Given the description of an element on the screen output the (x, y) to click on. 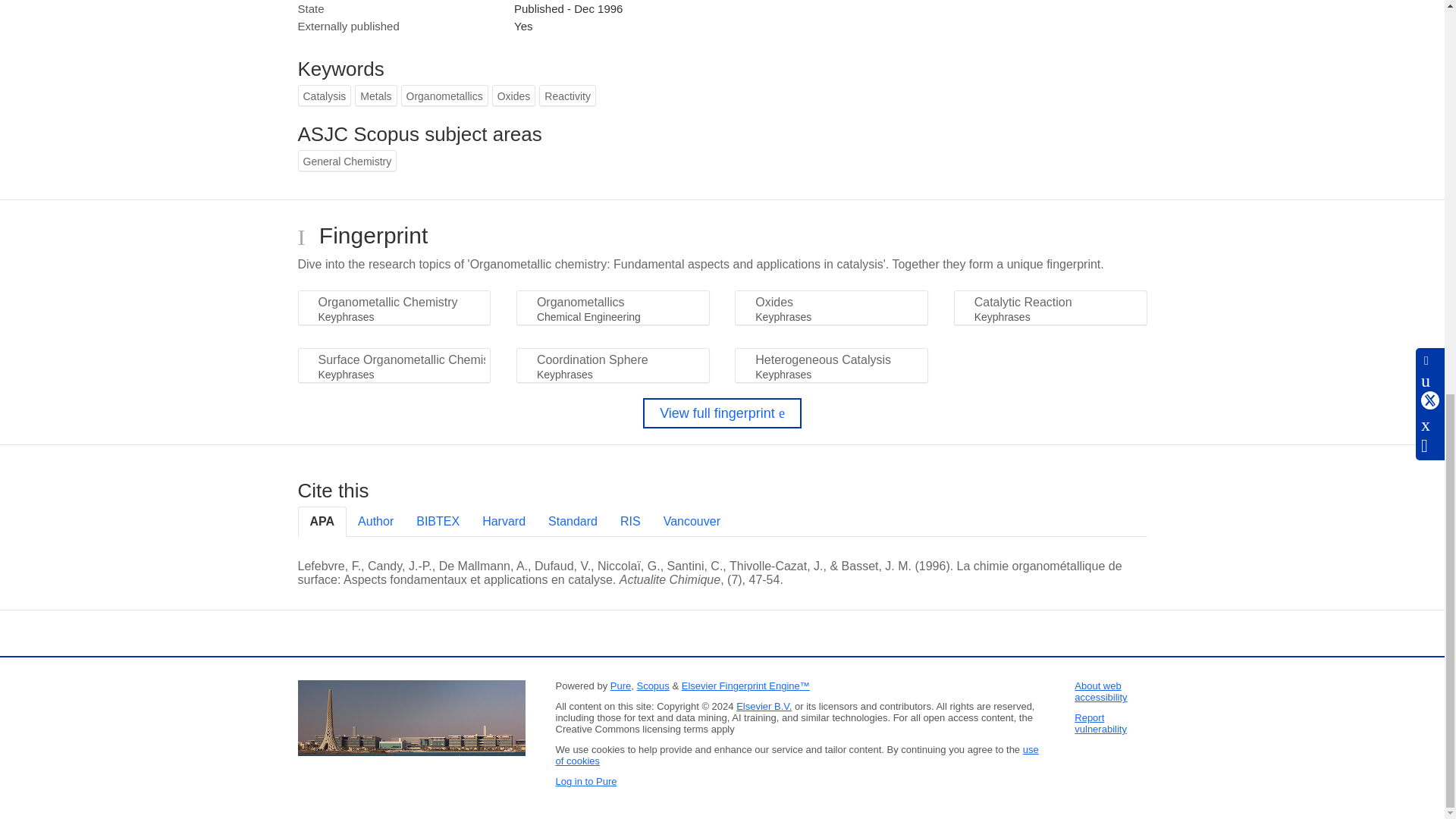
use of cookies (796, 754)
Log in to Pure (584, 781)
Elsevier B.V. (764, 706)
Pure (620, 685)
Scopus (652, 685)
View full fingerprint (722, 413)
About web accessibility (1100, 691)
